Given the description of an element on the screen output the (x, y) to click on. 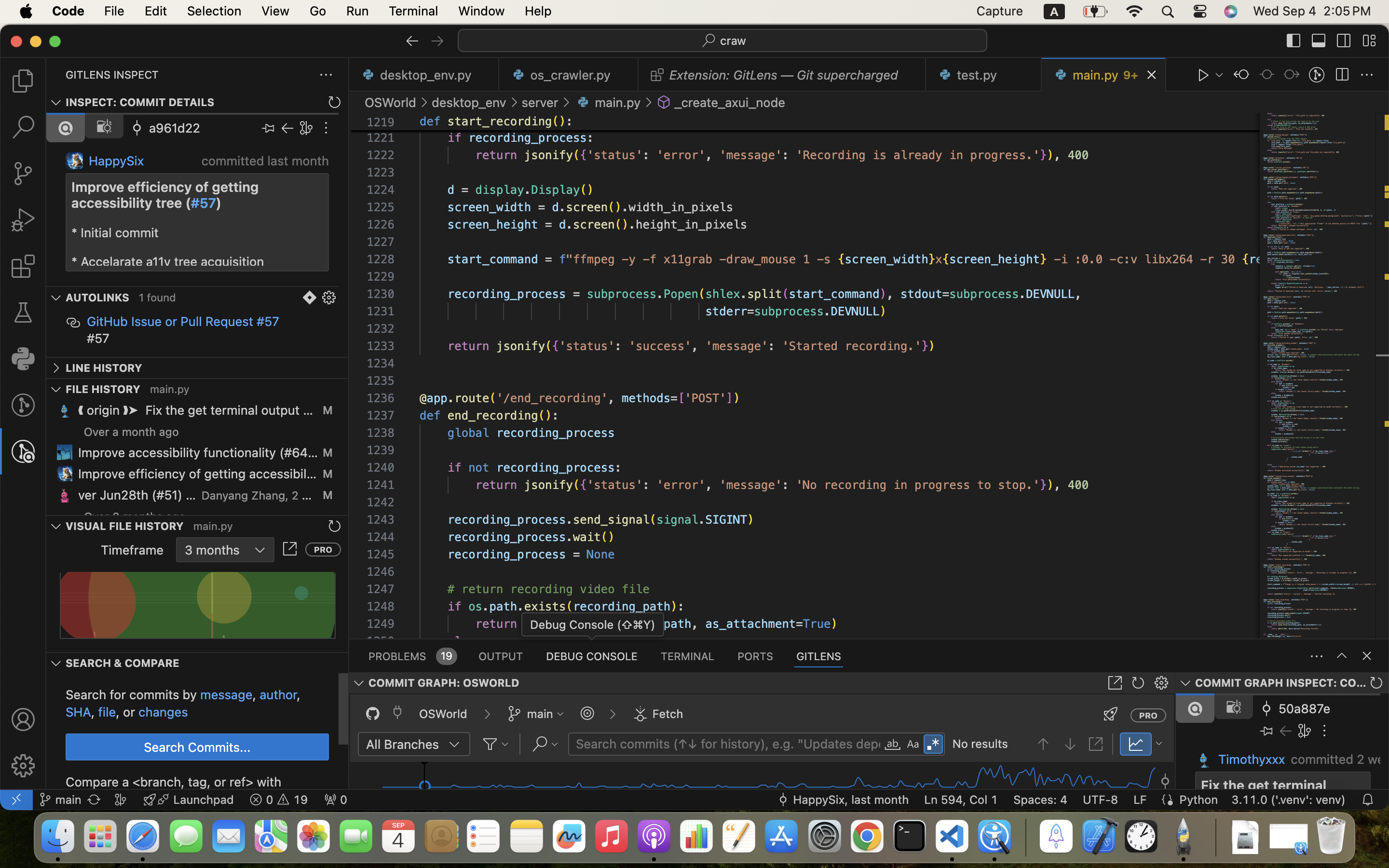
All Branches Element type: AXComboBox (402, 743)
 Element type: AXGroup (23, 127)
0  Element type: AXRadioButton (23, 219)
0.4285714328289032 Element type: AXDockItem (1024, 836)
 Element type: AXStaticText (73, 322)
